Given the description of an element on the screen output the (x, y) to click on. 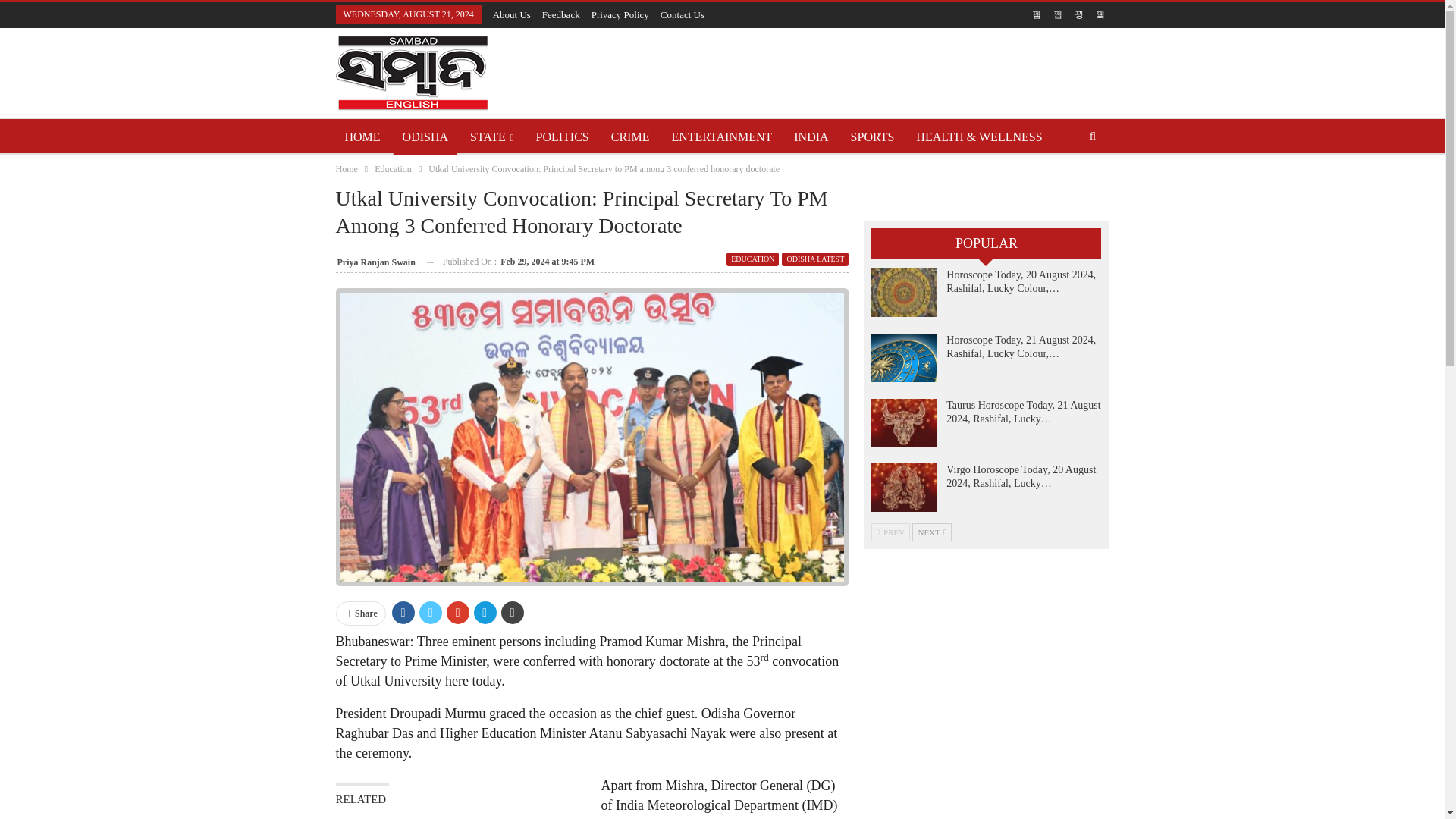
ODISHA LATEST (814, 259)
ODISHA (425, 136)
Education (393, 168)
Home (345, 168)
STATE (491, 136)
POLITICS (562, 136)
SPORTS (872, 136)
CRIME (630, 136)
Feedback (560, 14)
Browse Author Articles (374, 261)
